Given the description of an element on the screen output the (x, y) to click on. 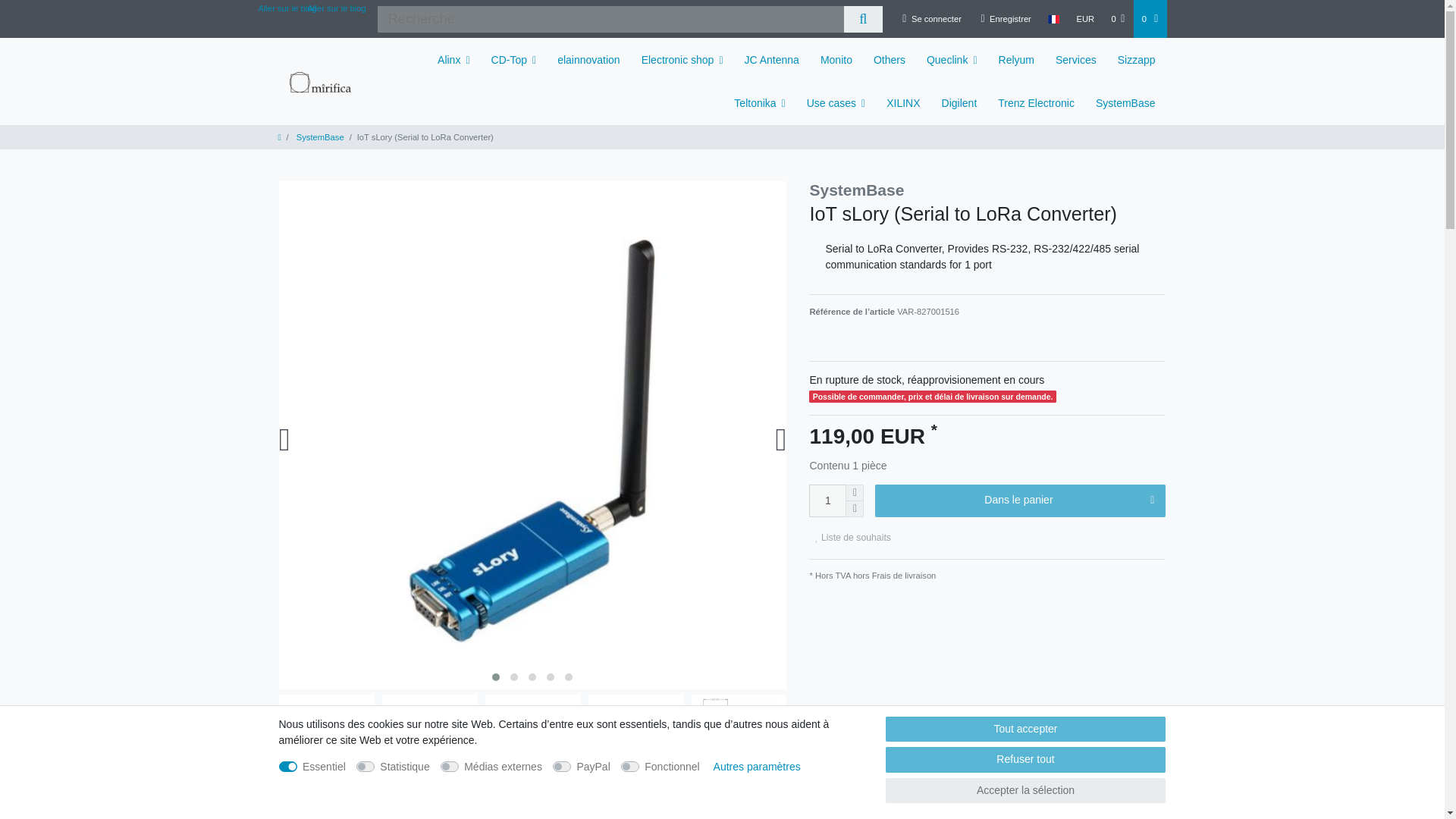
Frais de livraison (902, 574)
Aller sur le blog (336, 8)
Enregistrer (1005, 18)
EUR (1084, 18)
Aller sur le blog (286, 8)
Se connecter (931, 18)
Smartsupp widget button (1392, 779)
1 (827, 500)
